Given the description of an element on the screen output the (x, y) to click on. 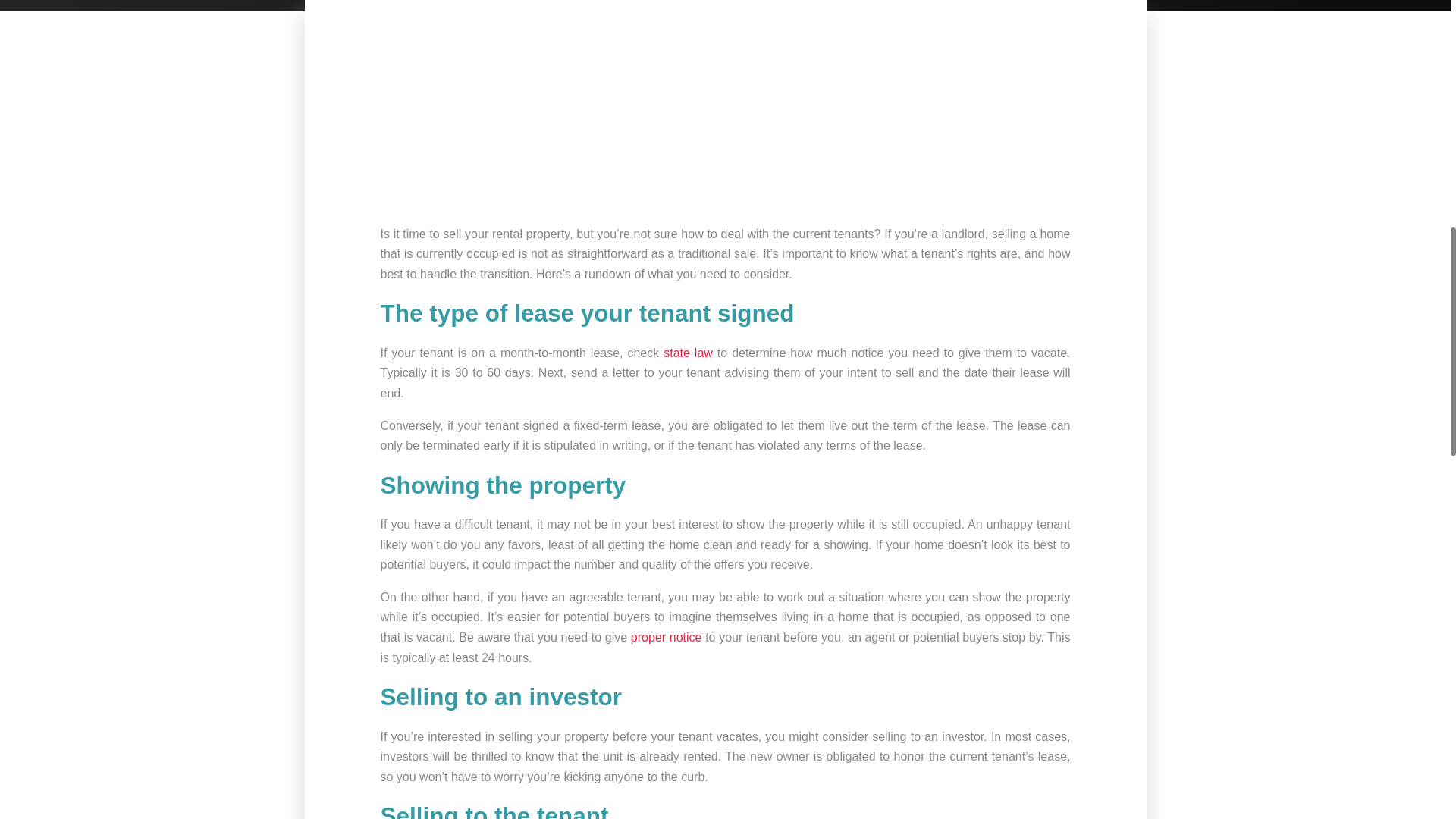
Selling With Tenants (724, 103)
state law (688, 352)
proper notice (665, 636)
